Given the description of an element on the screen output the (x, y) to click on. 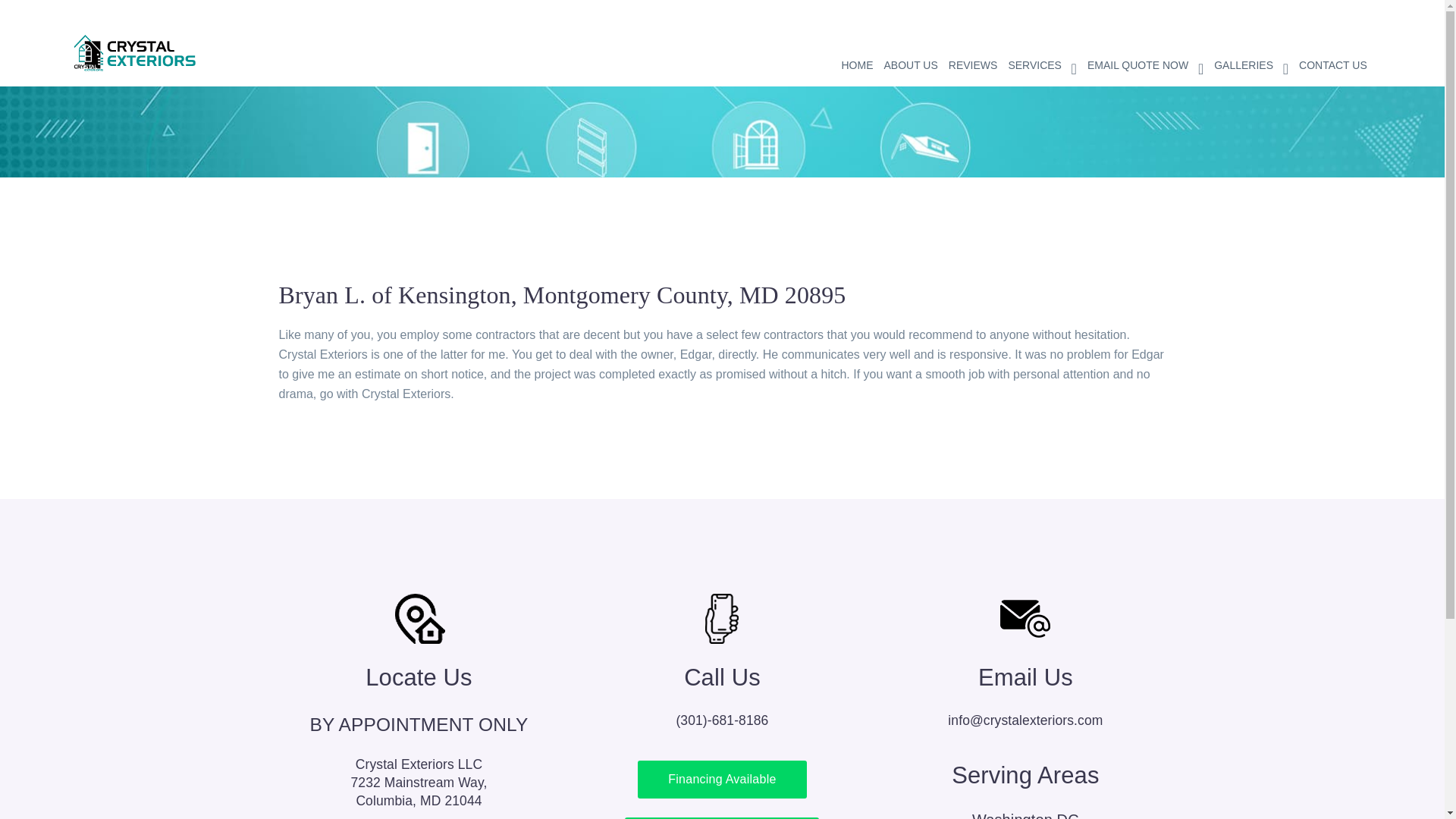
CONTACT US (1332, 45)
GALLERIES (1251, 45)
SERVICES (1042, 45)
REVIEWS (418, 791)
ABOUT US (973, 45)
EMAIL QUOTE NOW (910, 45)
Crystal Exteriors (1145, 45)
Financing Available (135, 51)
